Given the description of an element on the screen output the (x, y) to click on. 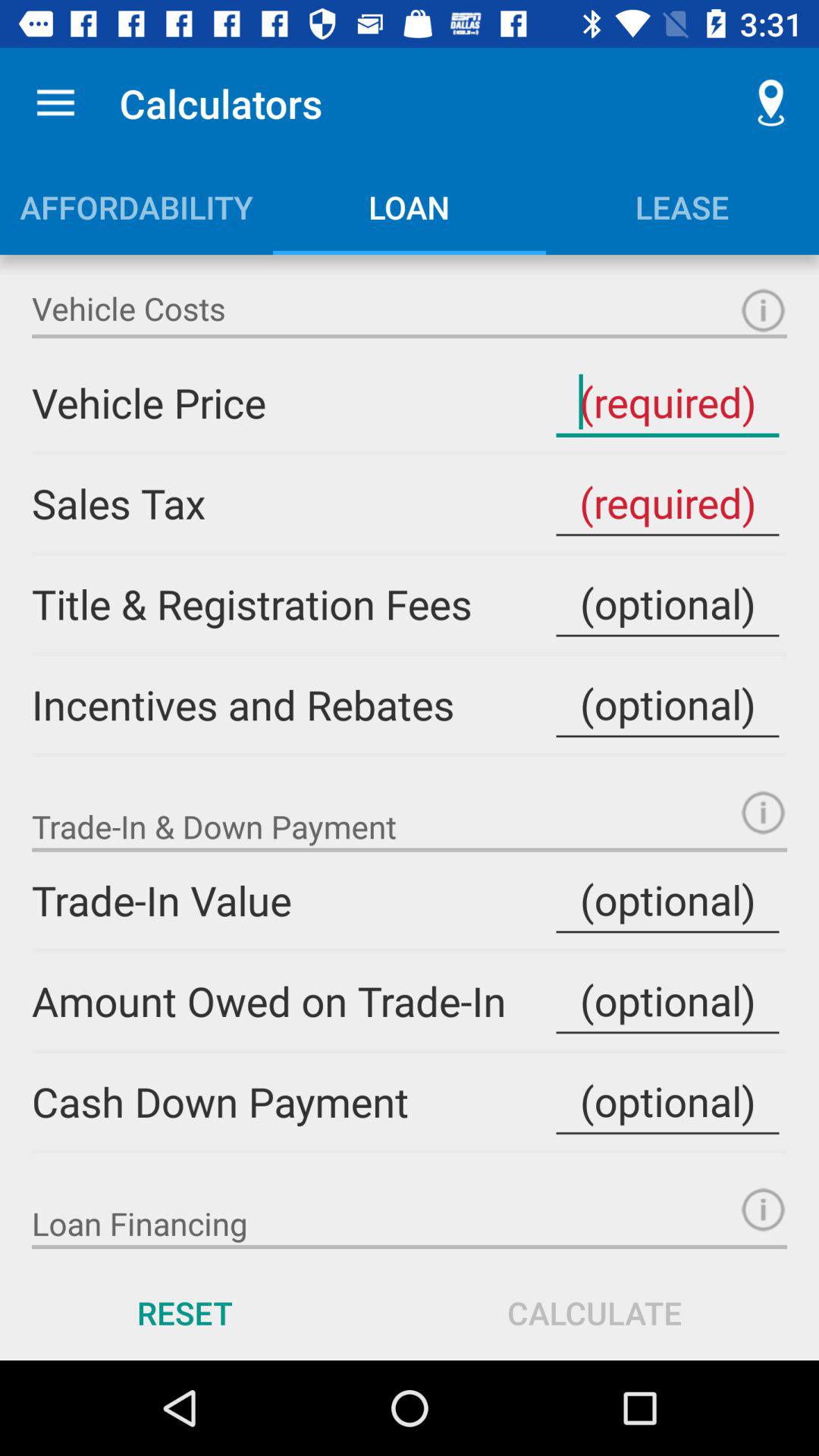
show information (763, 812)
